Given the description of an element on the screen output the (x, y) to click on. 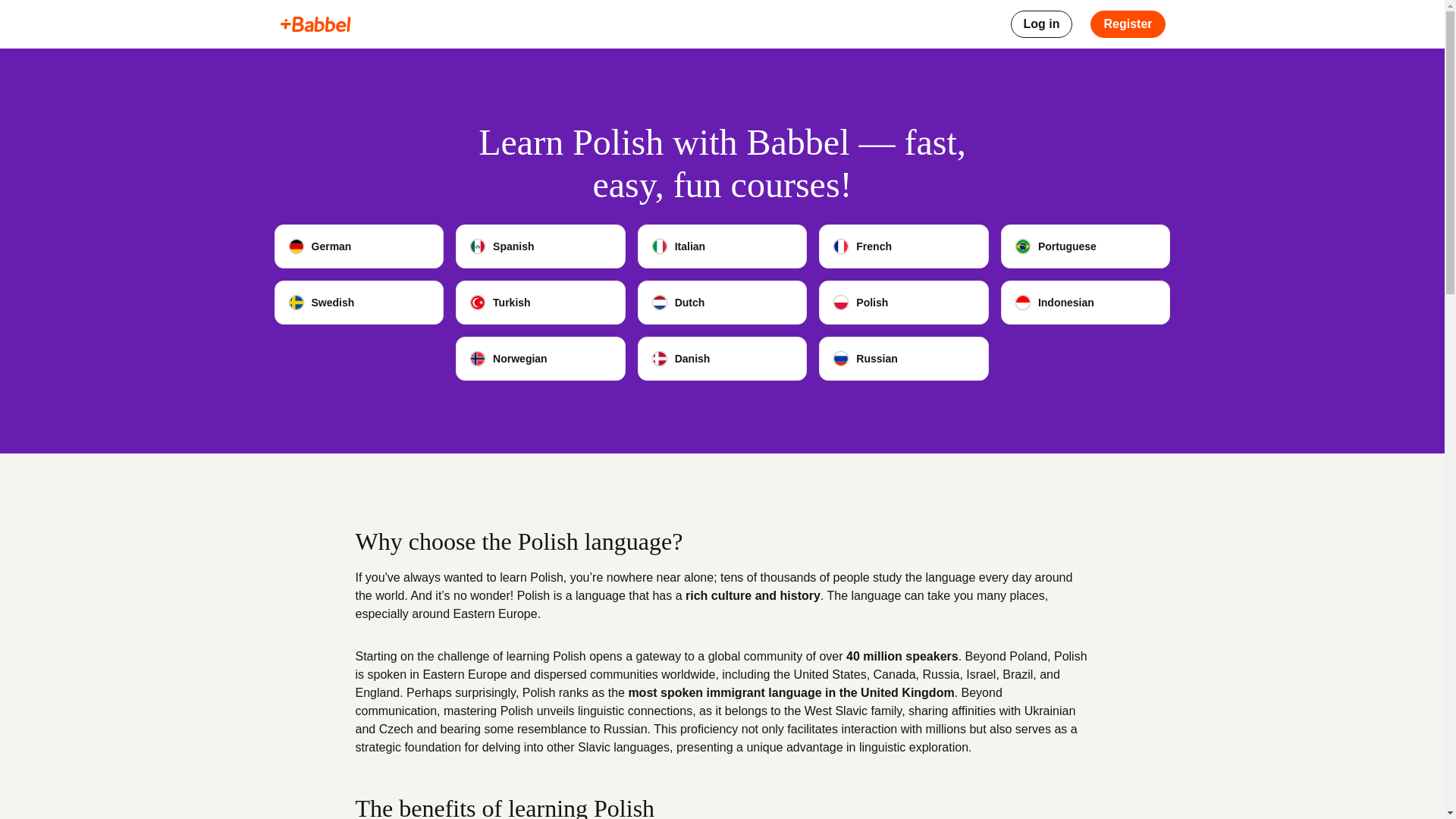
German (359, 246)
Turkish (540, 302)
Spanish (540, 246)
Danish (722, 358)
Swedish (359, 302)
Portuguese (1085, 246)
Dutch (722, 302)
Log in (1040, 23)
Italian (722, 246)
Indonesian (1085, 302)
